Given the description of an element on the screen output the (x, y) to click on. 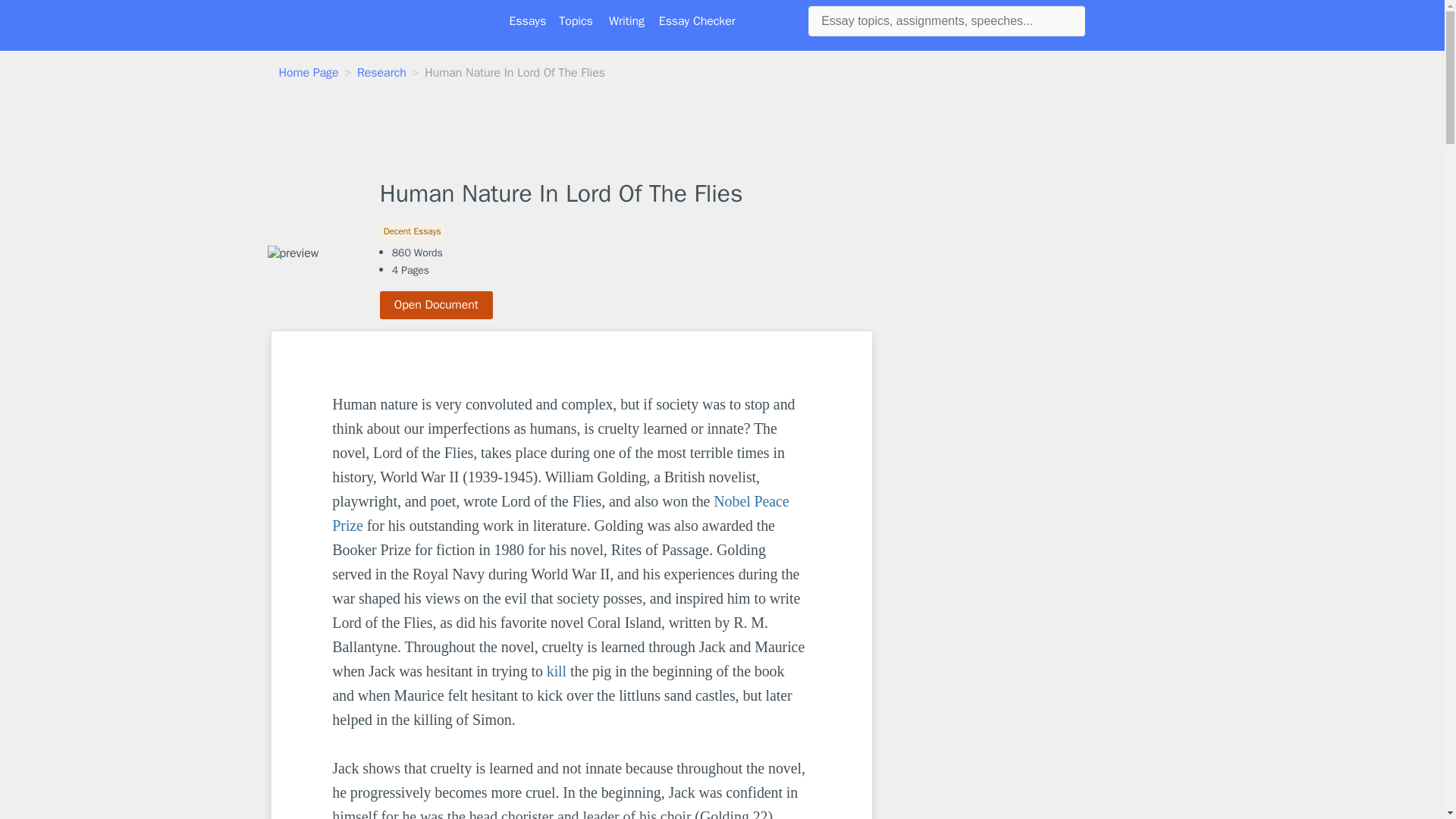
Nobel Peace Prize (561, 513)
Essay Checker (697, 20)
Home Page (309, 72)
Writing (626, 20)
Open Document (436, 305)
Essays (528, 20)
kill (556, 670)
Research (381, 72)
Topics (575, 20)
